Given the description of an element on the screen output the (x, y) to click on. 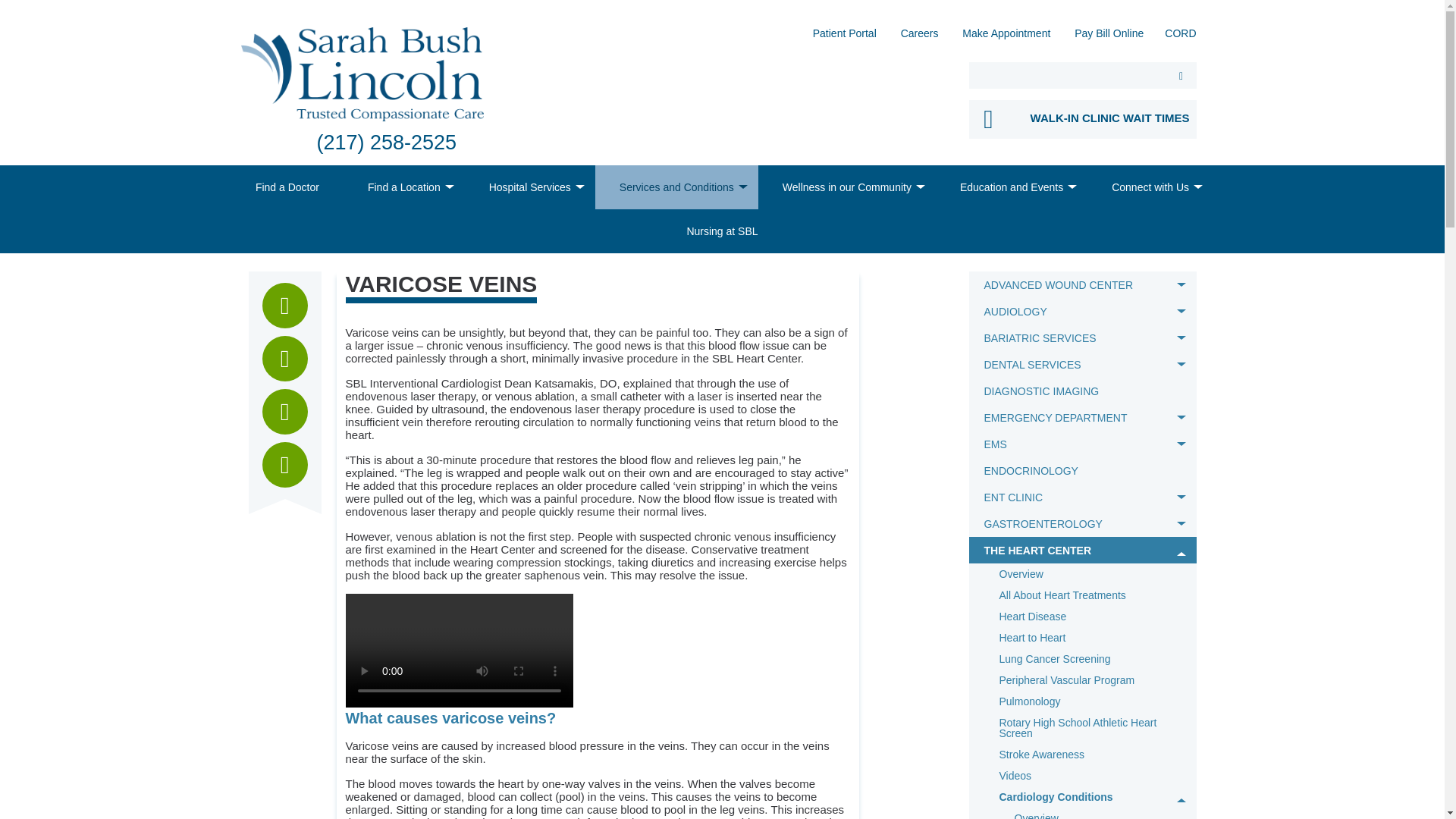
Hospital Services (529, 187)
Make Appointment (1005, 38)
CORD (1179, 38)
Search (1181, 75)
Careers (920, 38)
Patient Portal (844, 38)
WALK-IN CLINIC WAIT TIMES (1082, 118)
Find a Doctor (287, 187)
Skip to Content (5, 4)
SUBMIT (1181, 75)
Find a Location (403, 187)
Pay Bill Online (1108, 38)
